Given the description of an element on the screen output the (x, y) to click on. 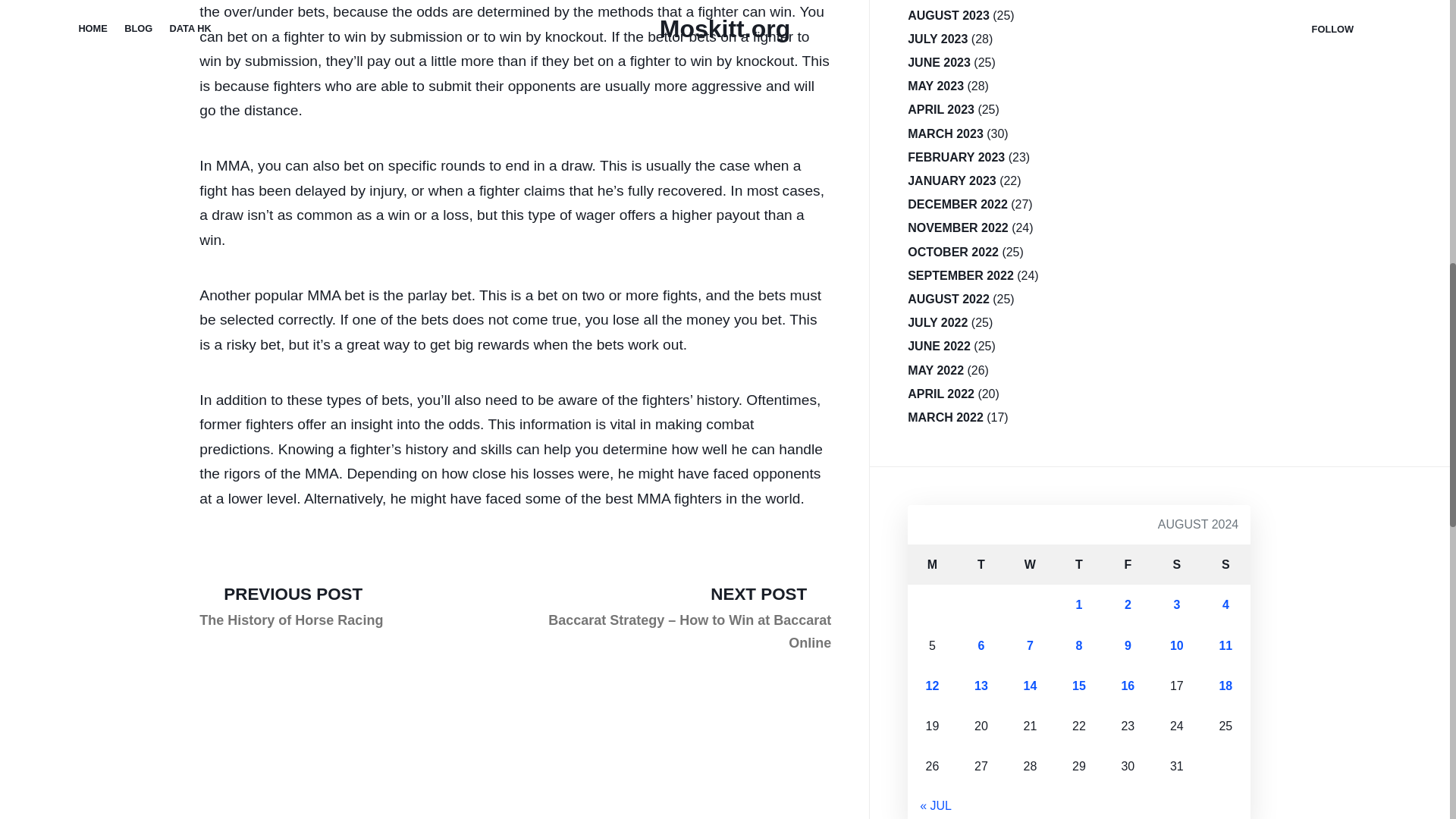
Wednesday (1030, 564)
JUNE 2023 (939, 62)
SEPTEMBER 2023 (960, 2)
Monday (931, 564)
Tuesday (290, 605)
Saturday (981, 564)
Thursday (1177, 564)
Friday (1078, 564)
AUGUST 2023 (1127, 564)
